Given the description of an element on the screen output the (x, y) to click on. 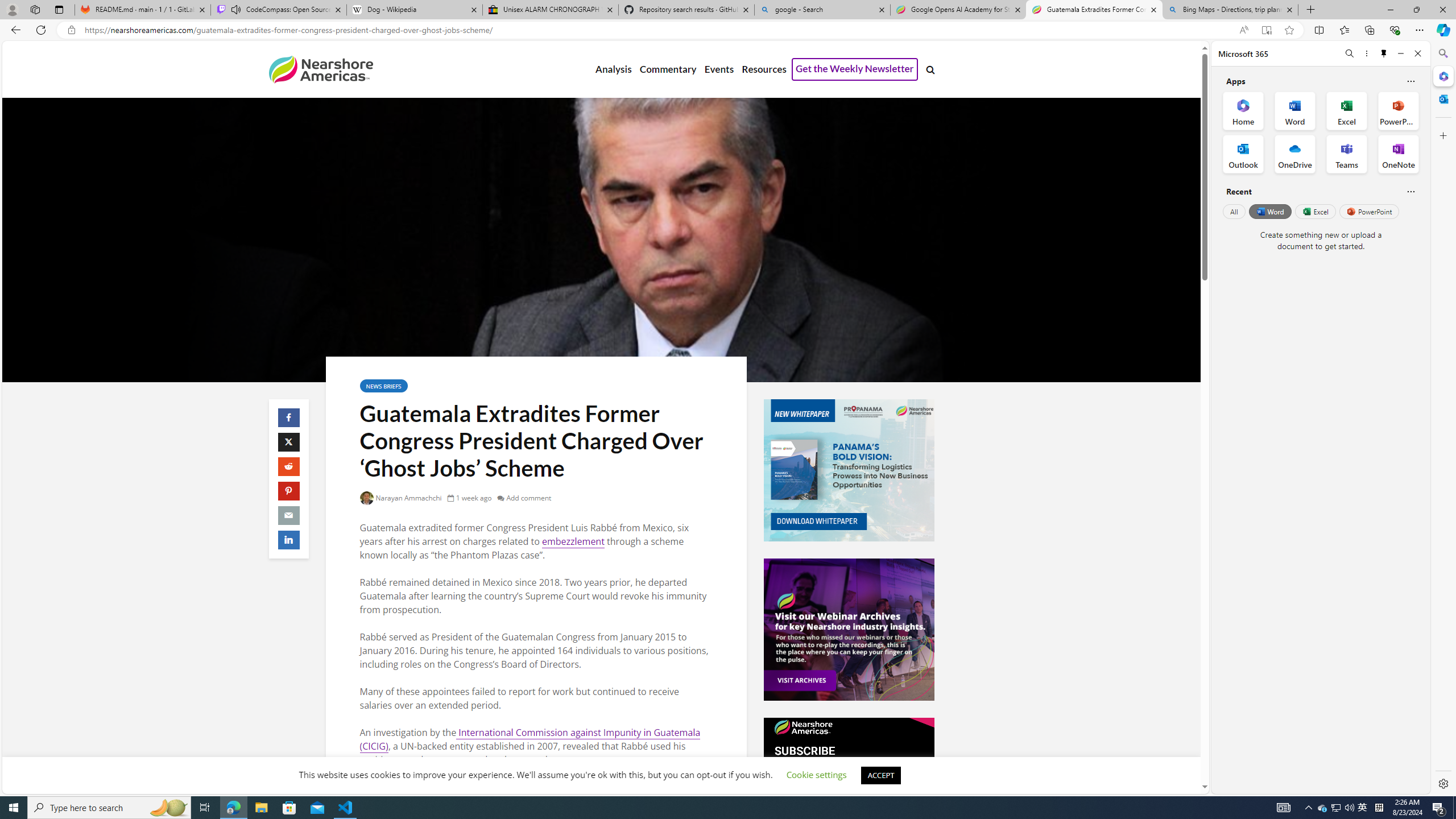
google - Search (822, 9)
Enter Immersive Reader (F9) (1266, 29)
Home Office App (1243, 110)
Events (718, 69)
Word Office App (1295, 110)
Outlook Office App (1243, 154)
Resources (763, 69)
Events-Banner-Ad.jpg (848, 629)
Get the Weekly Newsletter (854, 69)
